Given the description of an element on the screen output the (x, y) to click on. 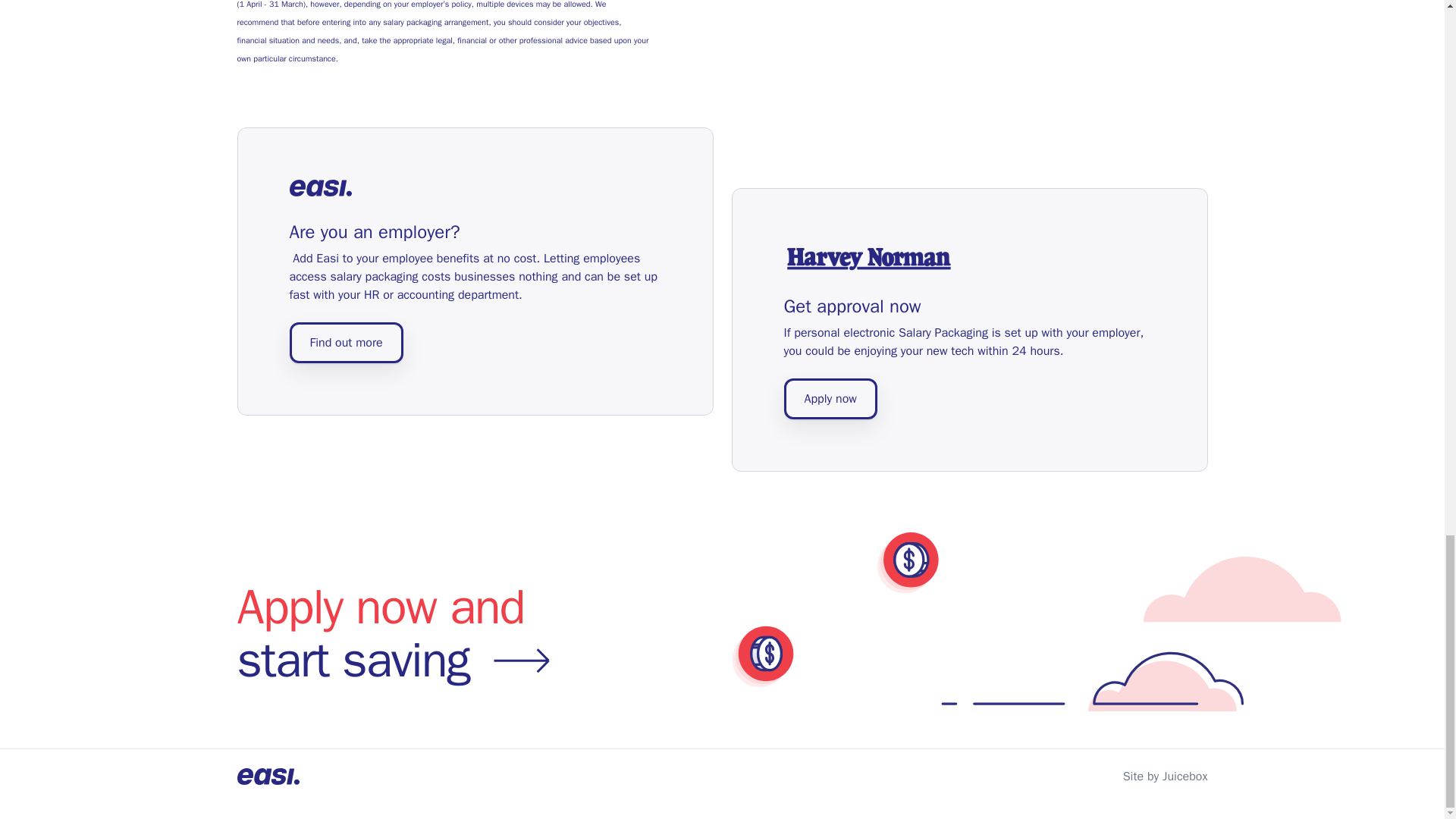
Site by Juicebox (1165, 776)
Apply now (830, 398)
Find out more (721, 633)
